Given the description of an element on the screen output the (x, y) to click on. 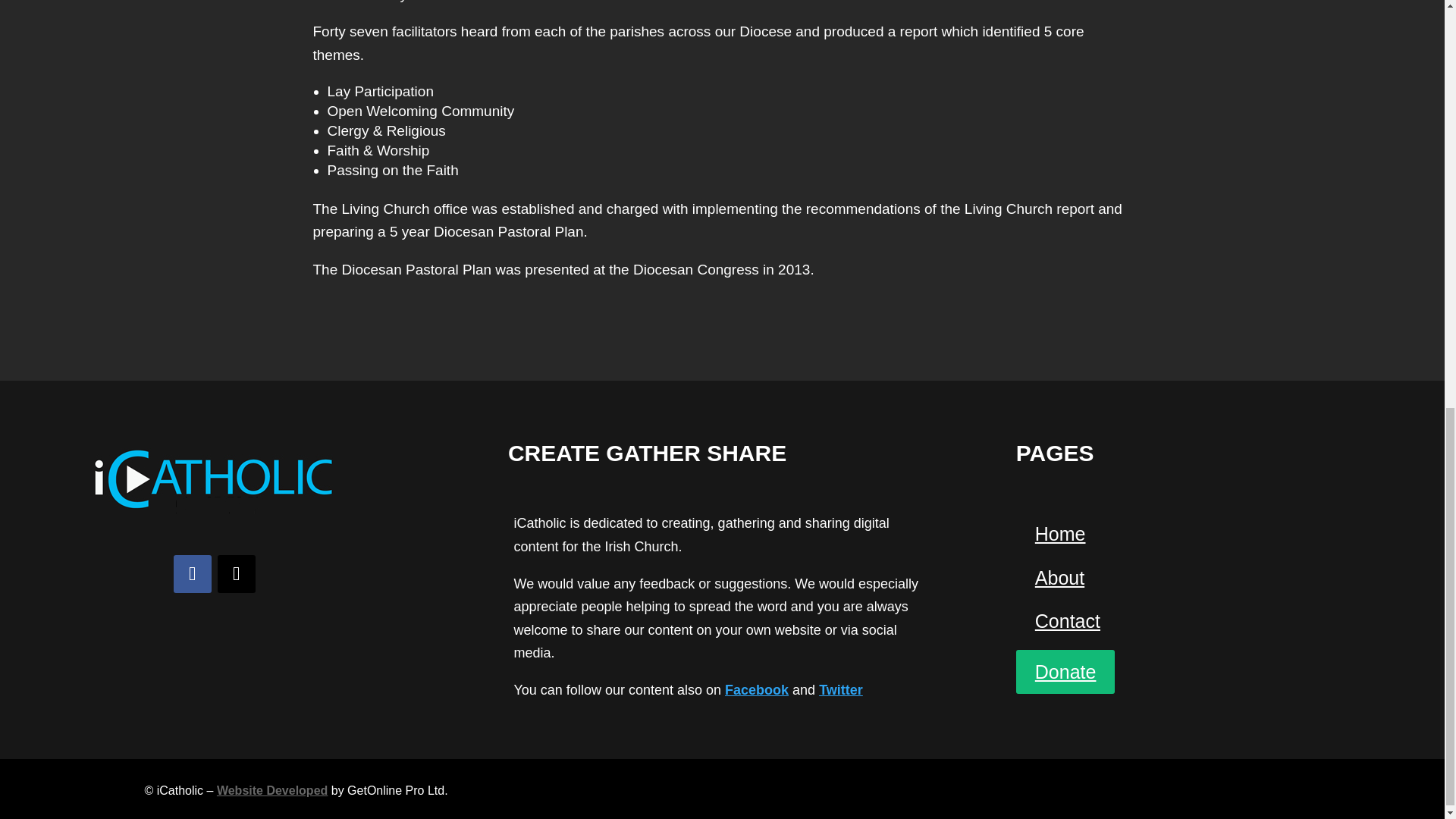
Follow on X (236, 573)
Follow on Facebook (192, 573)
iCatholic-logo-2021 (214, 478)
